Given the description of an element on the screen output the (x, y) to click on. 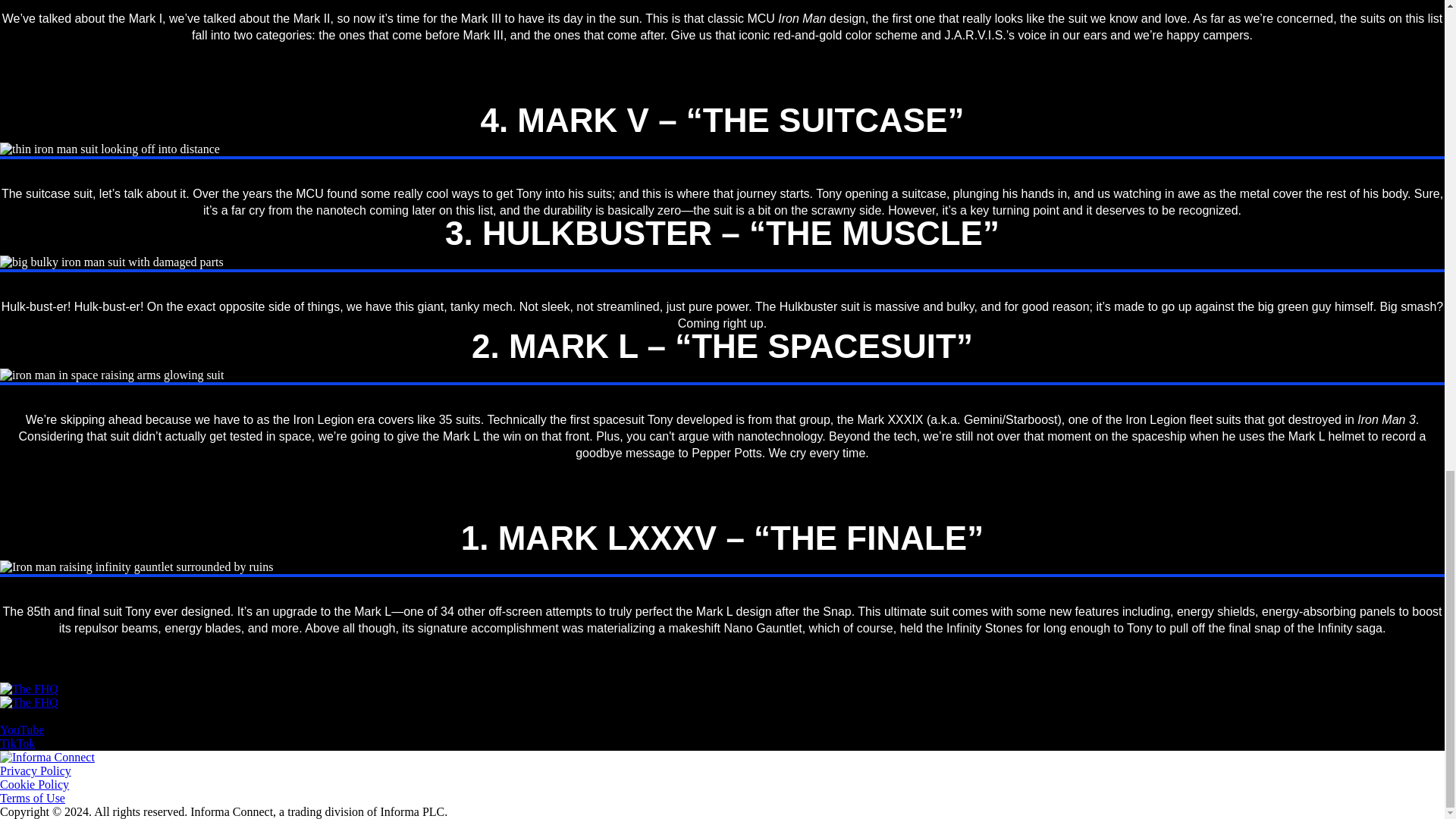
Privacy Policy (35, 770)
Cookie Policy (34, 784)
Terms of Use (32, 797)
YouTube (21, 729)
TikTok (17, 743)
